Given the description of an element on the screen output the (x, y) to click on. 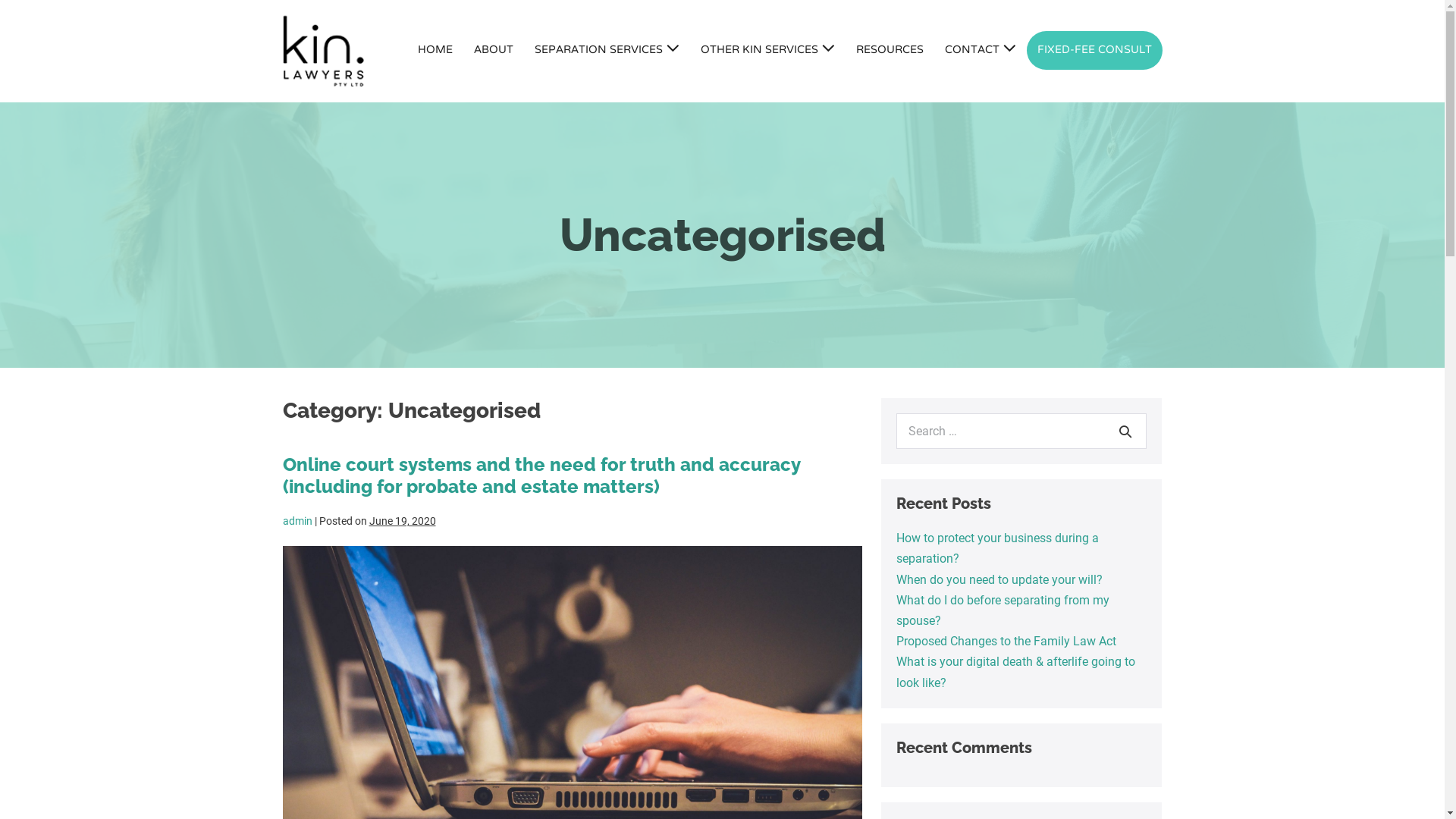
What is your digital death & afterlife going to look like? Element type: text (1015, 671)
Search Element type: text (1125, 431)
admin Element type: text (296, 520)
Kin Lawyers Pty Ltd Element type: hover (322, 51)
HOME Element type: text (434, 51)
SEPARATION SERVICES Element type: text (606, 51)
RESOURCES Element type: text (888, 51)
ABOUT Element type: text (492, 51)
Proposed Changes to the Family Law Act Element type: text (1006, 640)
OTHER KIN SERVICES Element type: text (767, 51)
When do you need to update your will? Element type: text (999, 579)
How to protect your business during a separation? Element type: text (997, 547)
CONTACT Element type: text (980, 51)
FIXED-FEE CONSULT Element type: text (1094, 50)
Press enter to search Element type: hover (1021, 430)
What do I do before separating from my spouse? Element type: text (1002, 610)
